Given the description of an element on the screen output the (x, y) to click on. 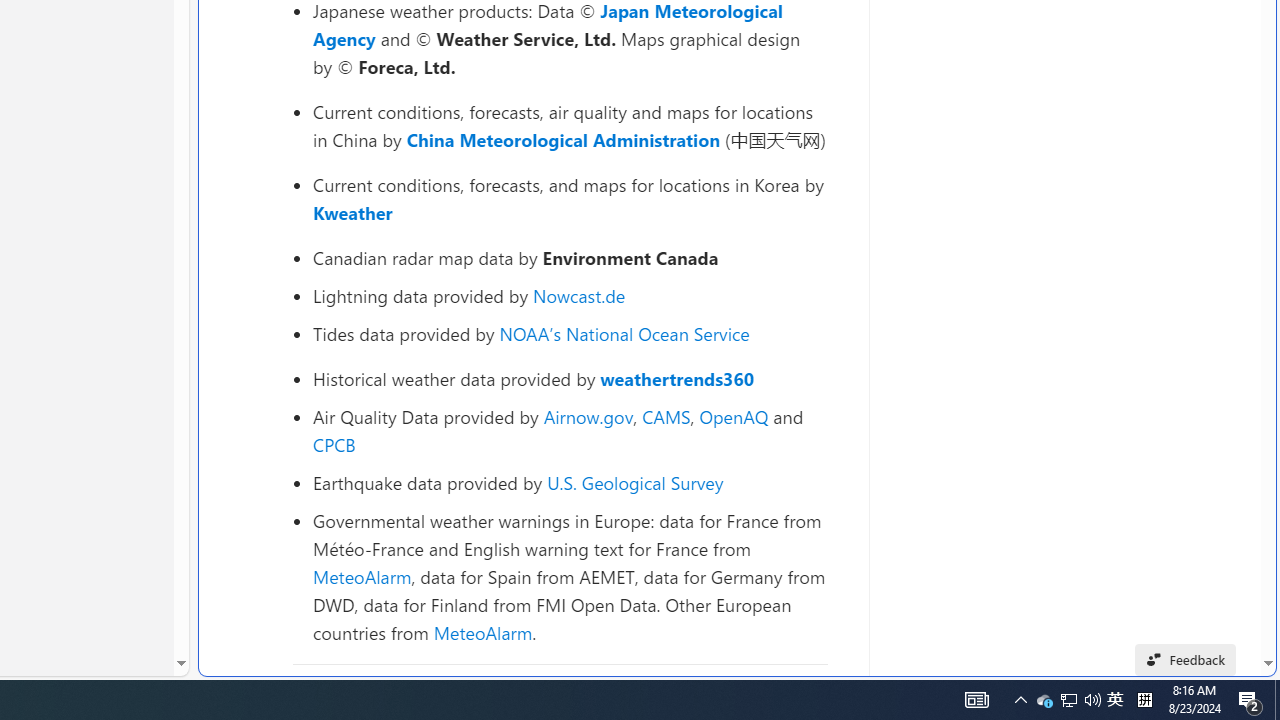
Feedback (1185, 659)
MeteoAlarm (482, 632)
CPCB (334, 444)
